Given the description of an element on the screen output the (x, y) to click on. 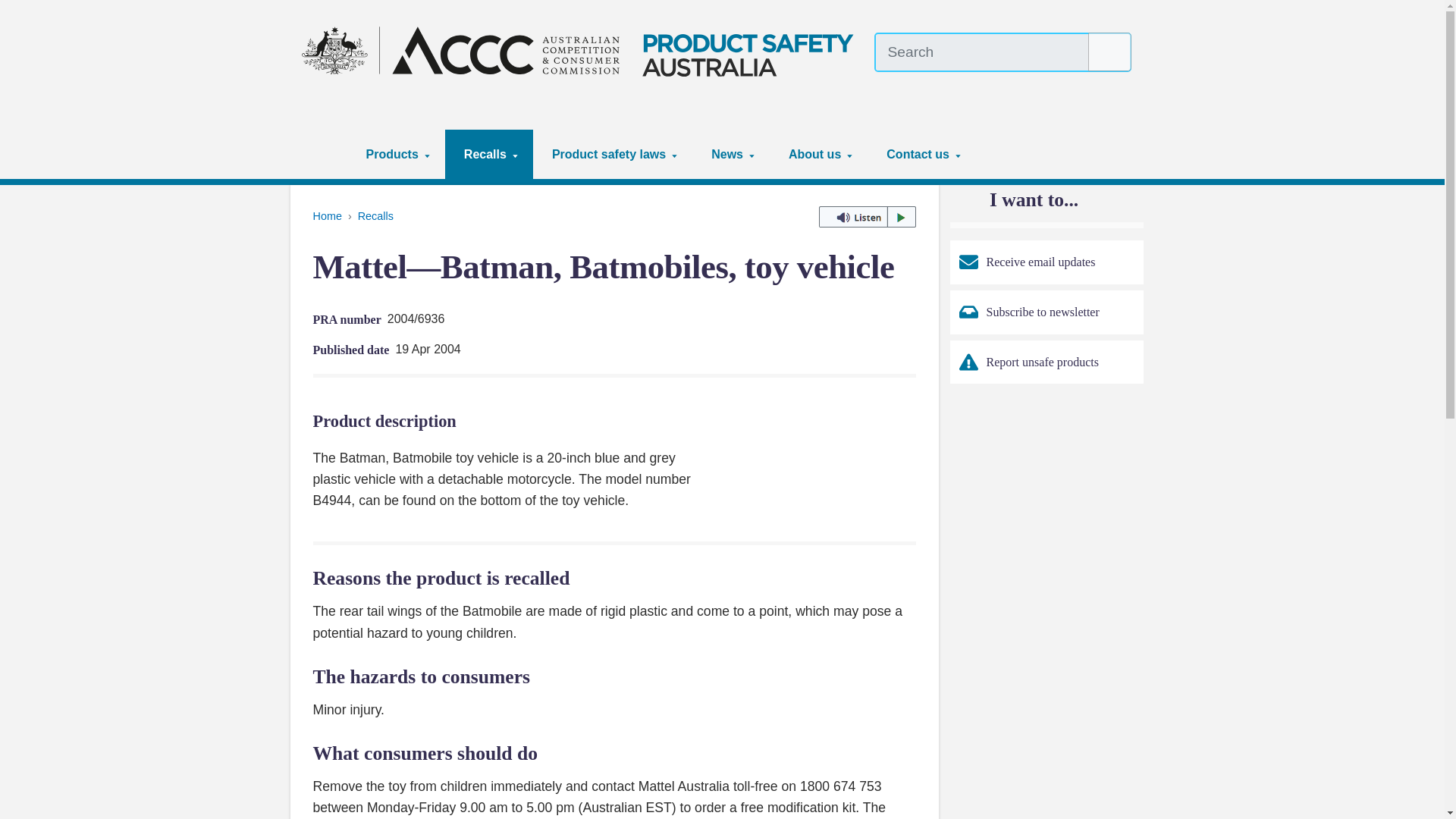
Product Safety Australia home (582, 49)
Listen to this page using ReadSpeaker (866, 216)
"Products" (426, 154)
Search (1109, 51)
Home (324, 154)
Products (396, 154)
About website translation (1123, 87)
